Given the description of an element on the screen output the (x, y) to click on. 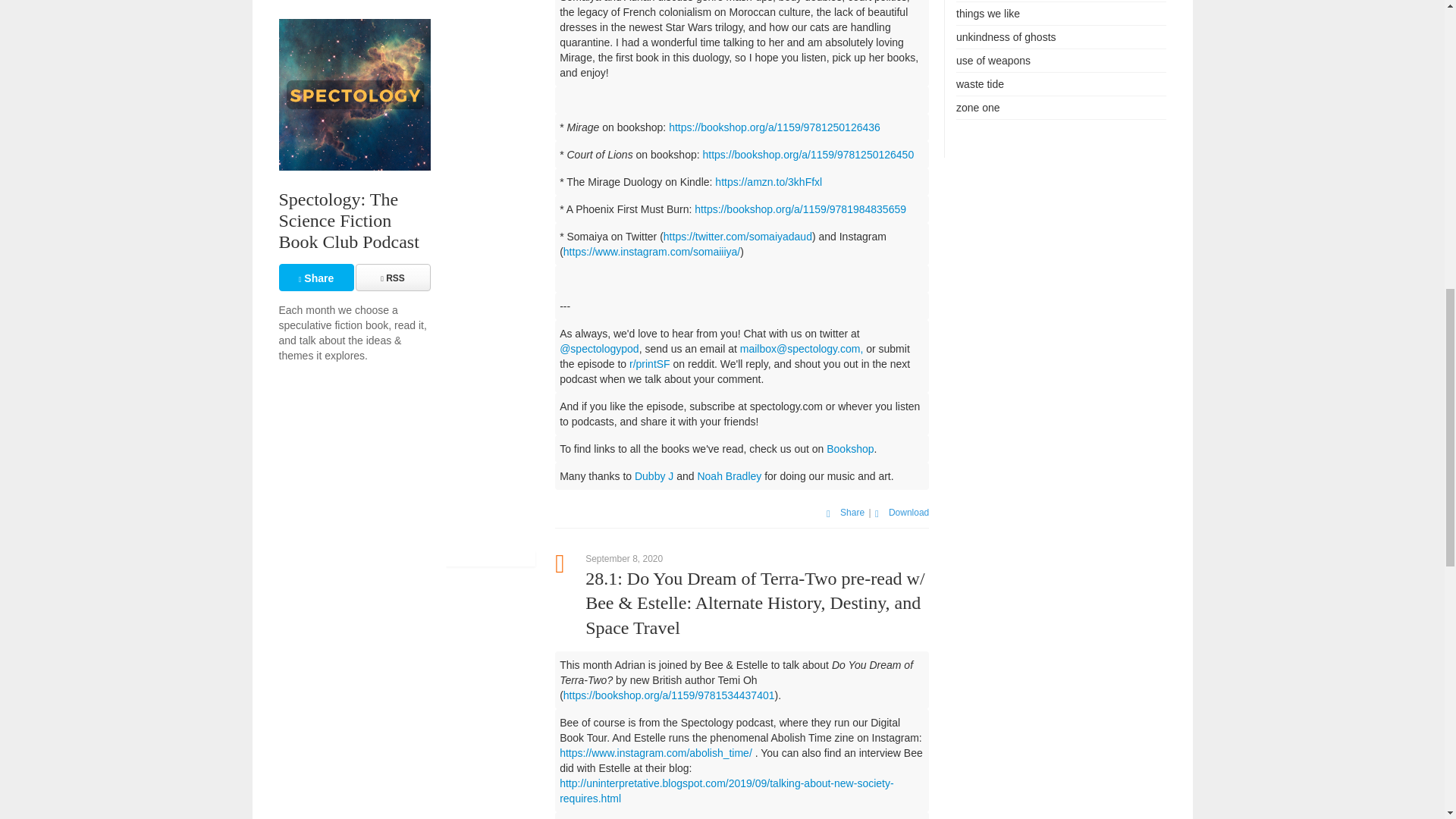
Noah Bradley website (729, 476)
Dubby J soundcloud (653, 476)
Dubby J (653, 476)
Noah Bradley (729, 476)
Bookshop (850, 449)
Share (845, 511)
Download (901, 511)
